Given the description of an element on the screen output the (x, y) to click on. 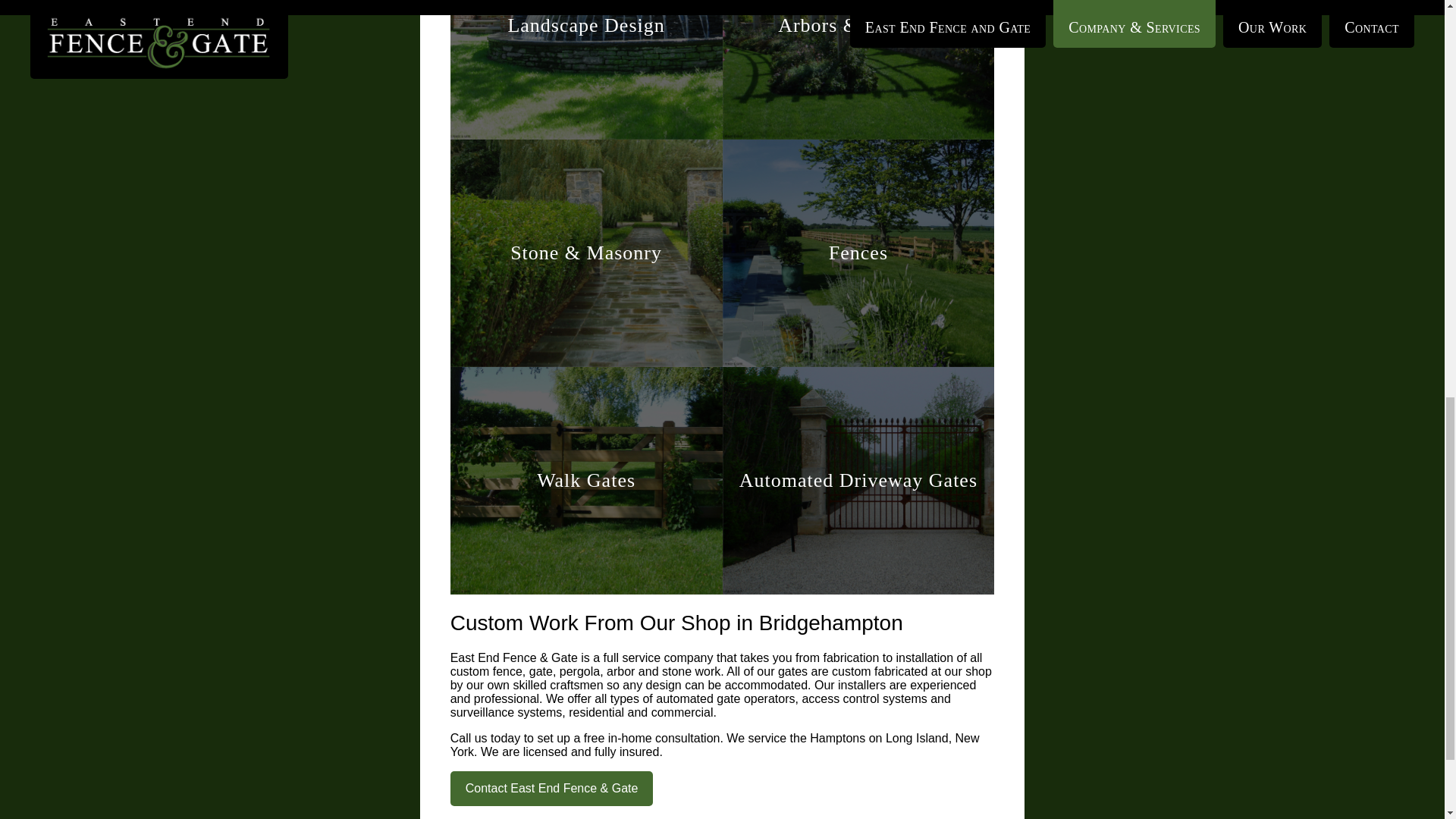
Automated Driveway Gates (858, 480)
Landscape Design (585, 69)
Walk Gates (585, 480)
Fences (858, 252)
